Given the description of an element on the screen output the (x, y) to click on. 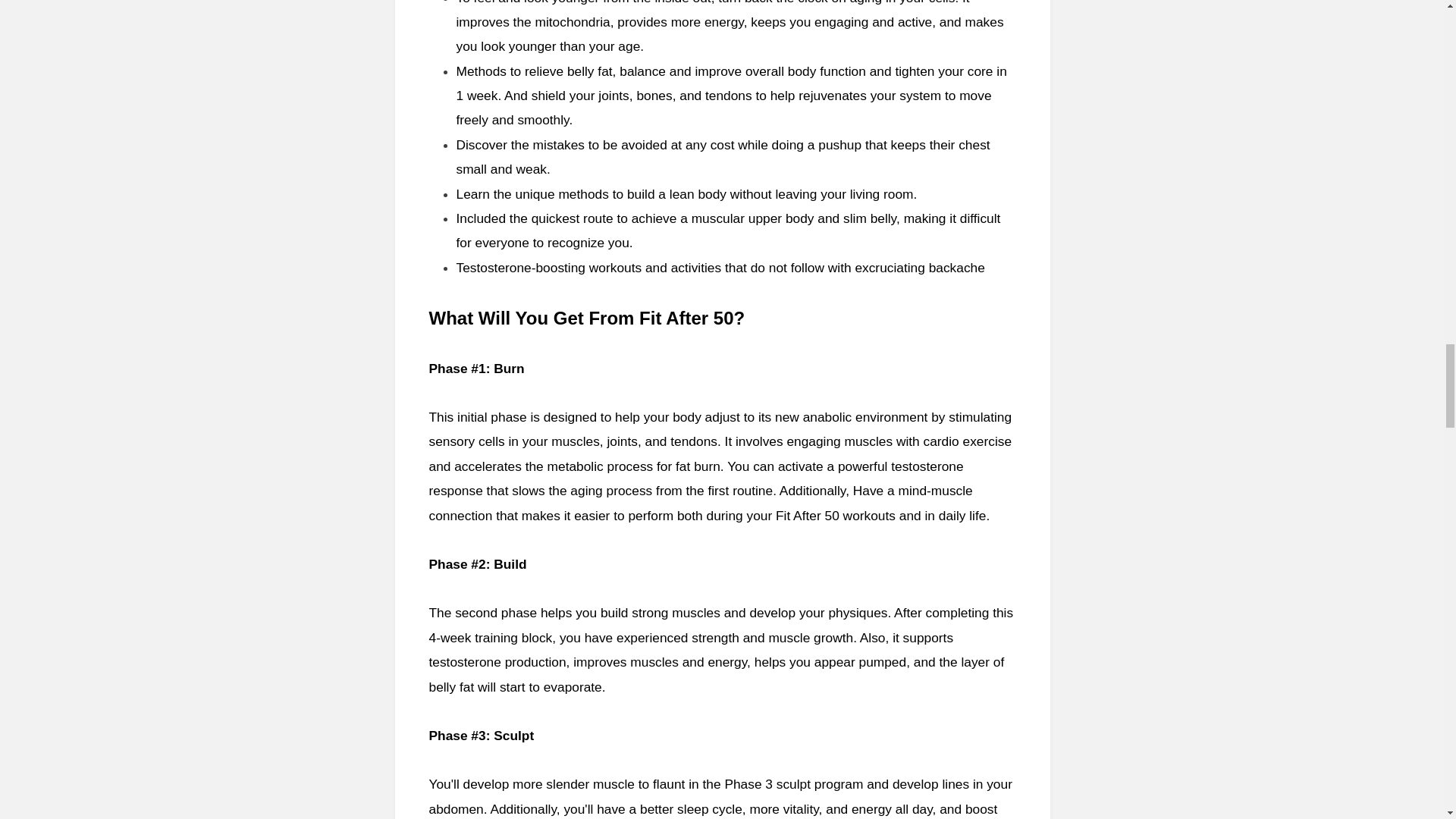
build strong muscles (659, 612)
